Given the description of an element on the screen output the (x, y) to click on. 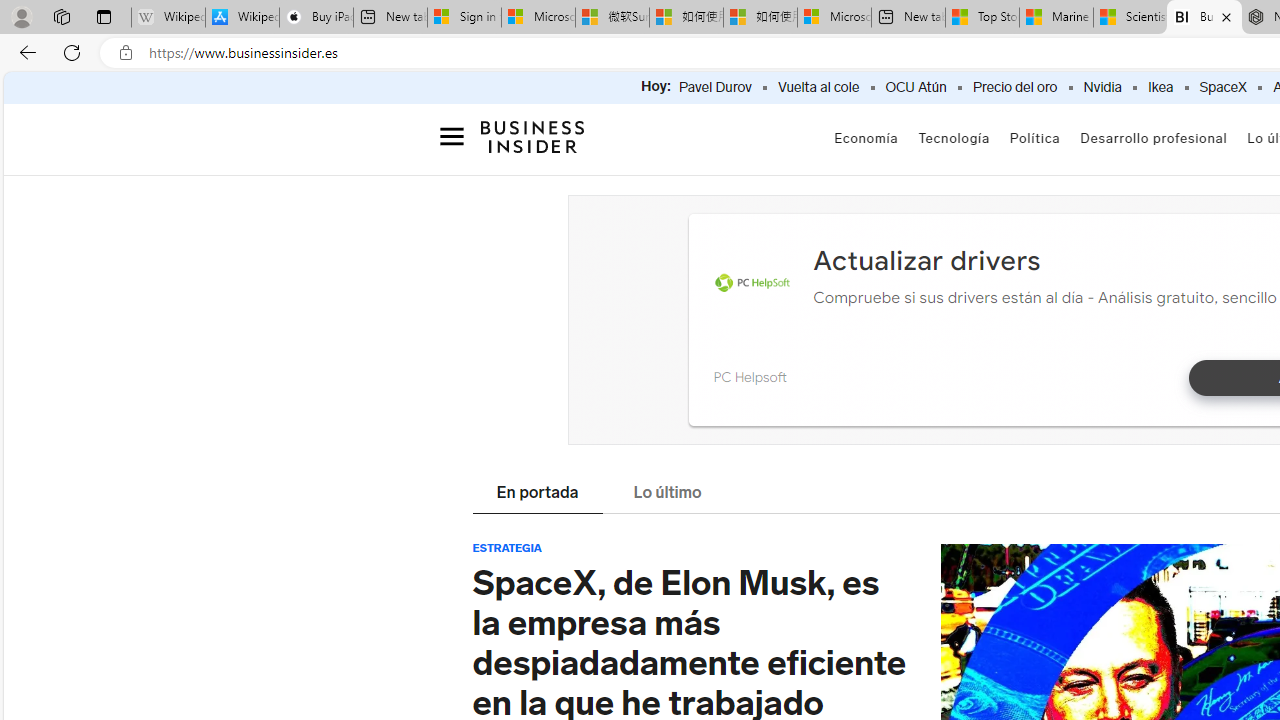
Ikea (1160, 88)
SpaceX (1222, 88)
Precio del oro (1014, 88)
En portada (537, 494)
Ikea (1159, 88)
